Given the description of an element on the screen output the (x, y) to click on. 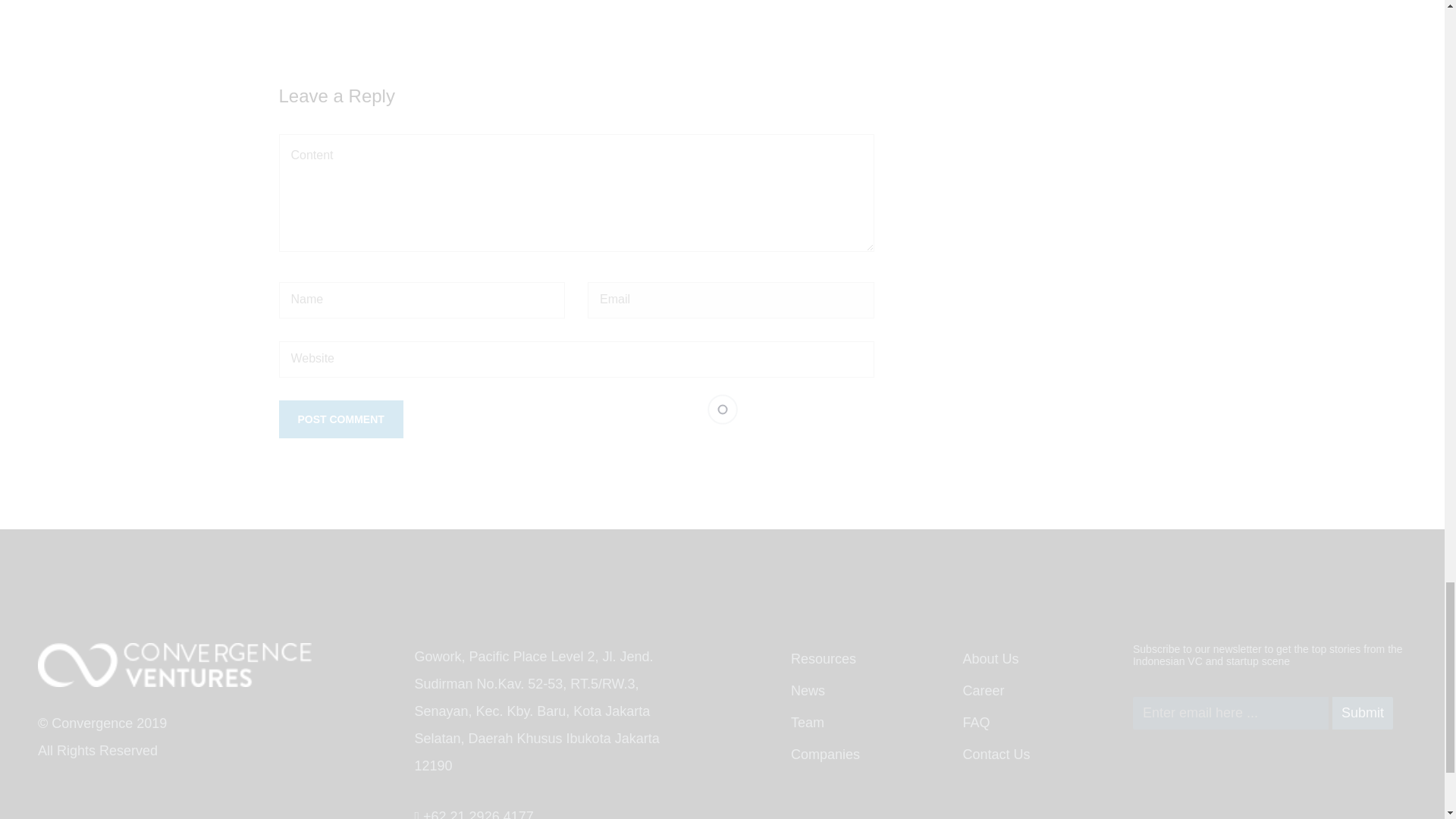
Submit (1362, 712)
Post Comment (341, 419)
Post Comment (341, 419)
